Given the description of an element on the screen output the (x, y) to click on. 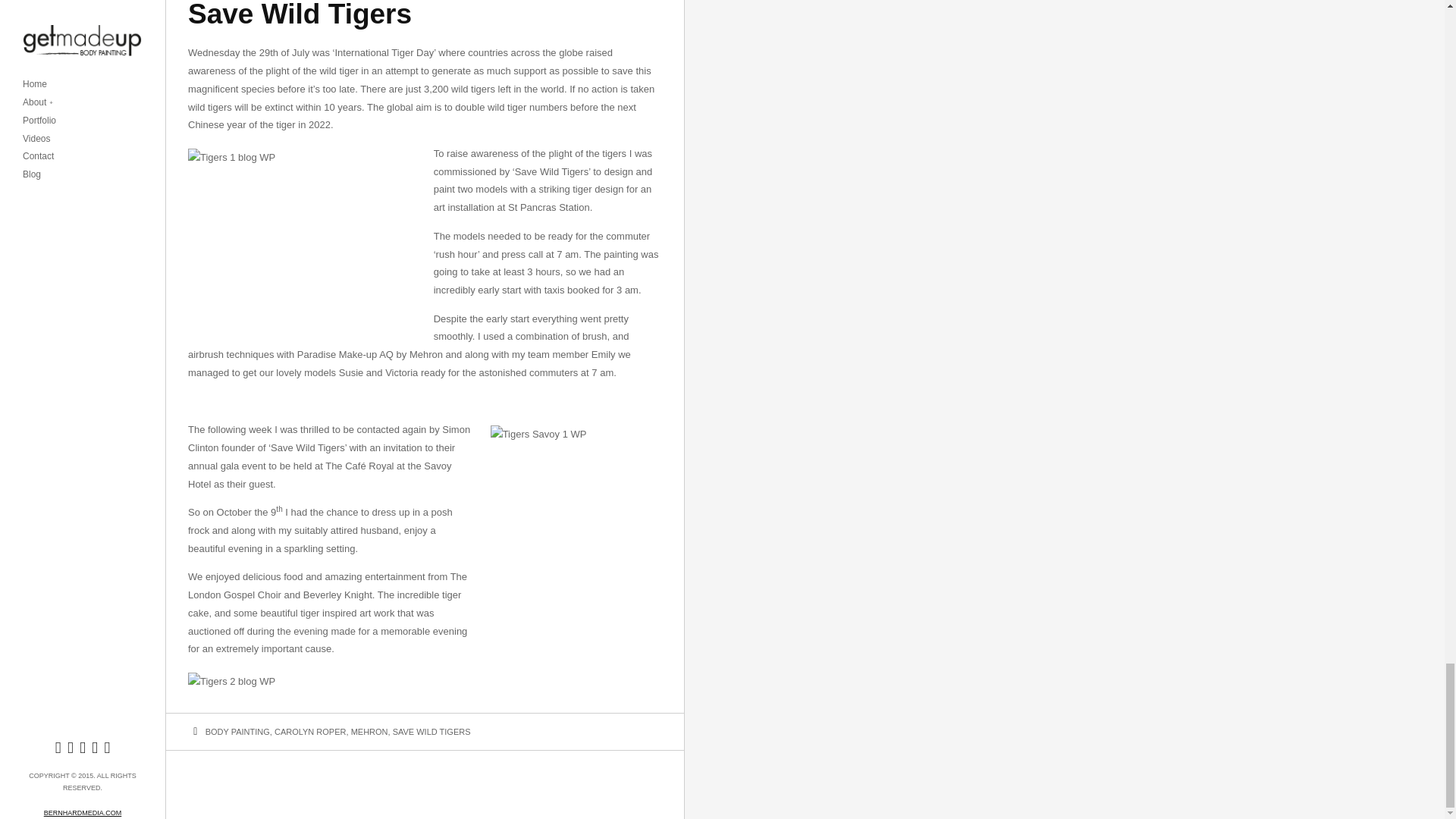
Permanent Link to Save Wild Tigers (299, 14)
